Given the description of an element on the screen output the (x, y) to click on. 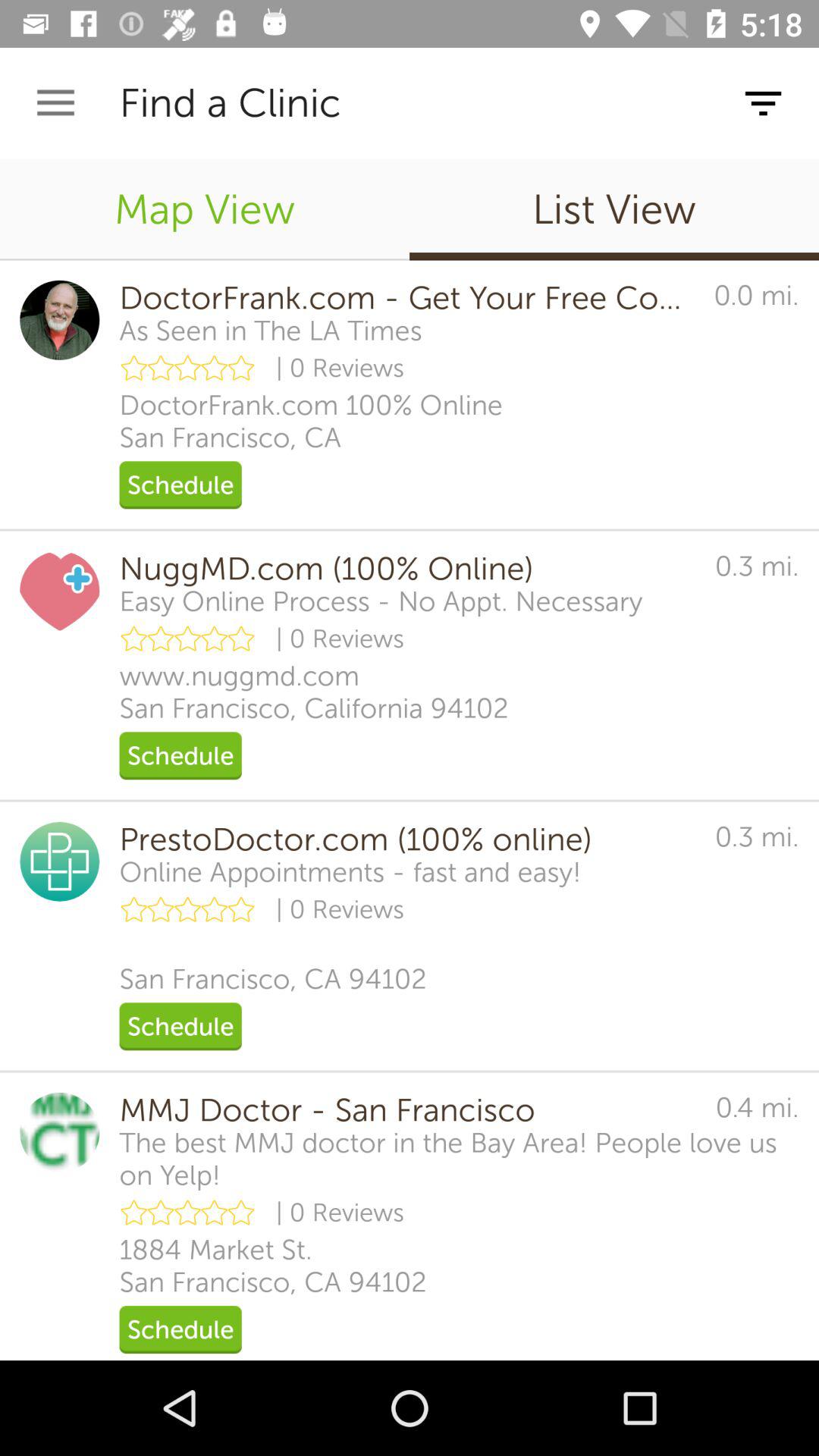
select the item above the | 0 reviews (350, 872)
